Given the description of an element on the screen output the (x, y) to click on. 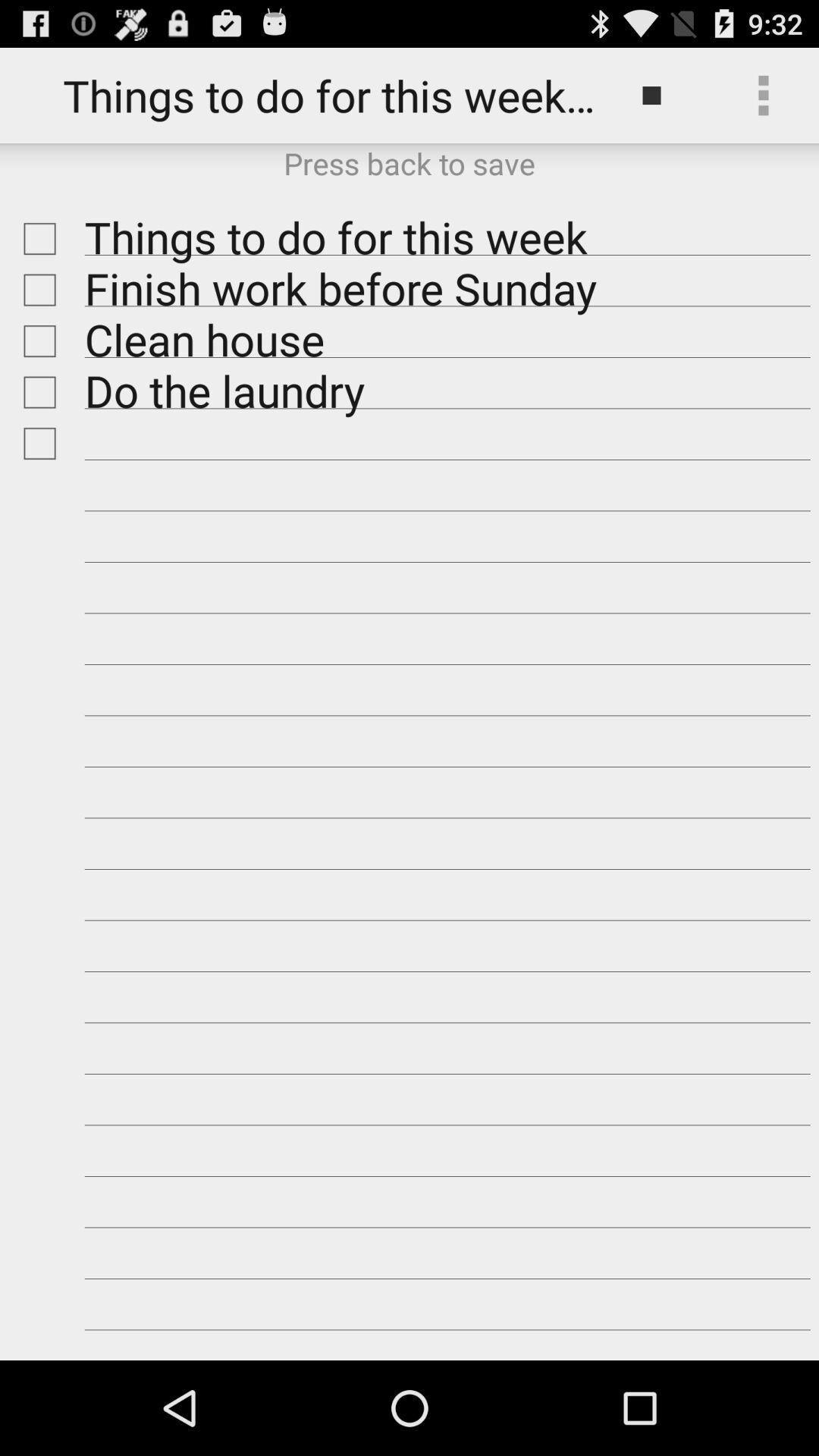
check the box (35, 392)
